Given the description of an element on the screen output the (x, y) to click on. 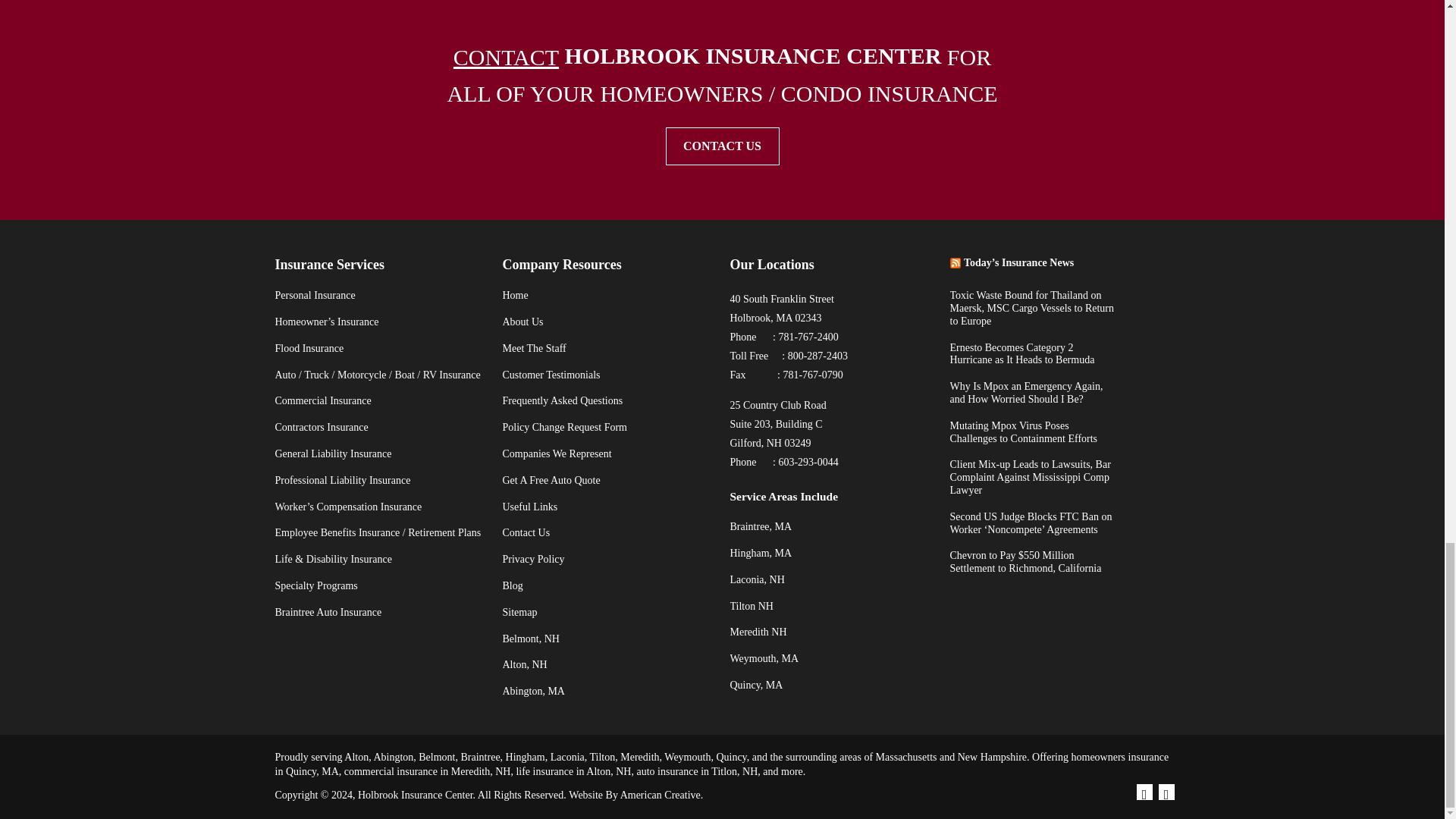
Commercial Insurance (323, 400)
Personal Insurance (315, 295)
CONTACT (505, 57)
Flood Insurance (309, 348)
CONTACT US (721, 146)
